Given the description of an element on the screen output the (x, y) to click on. 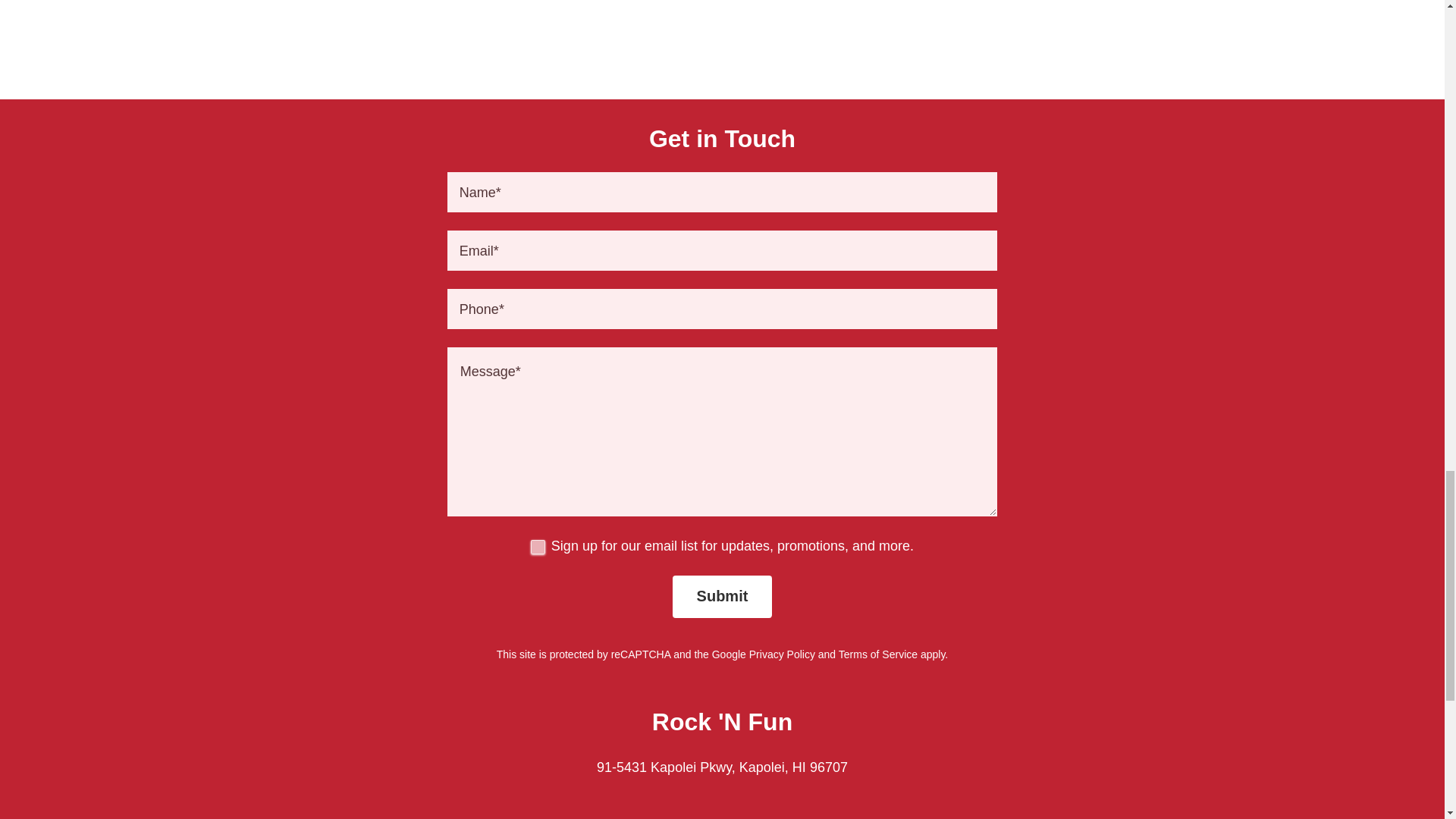
Submit (722, 596)
Terms of Service (877, 654)
Privacy Policy (782, 654)
